Given the description of an element on the screen output the (x, y) to click on. 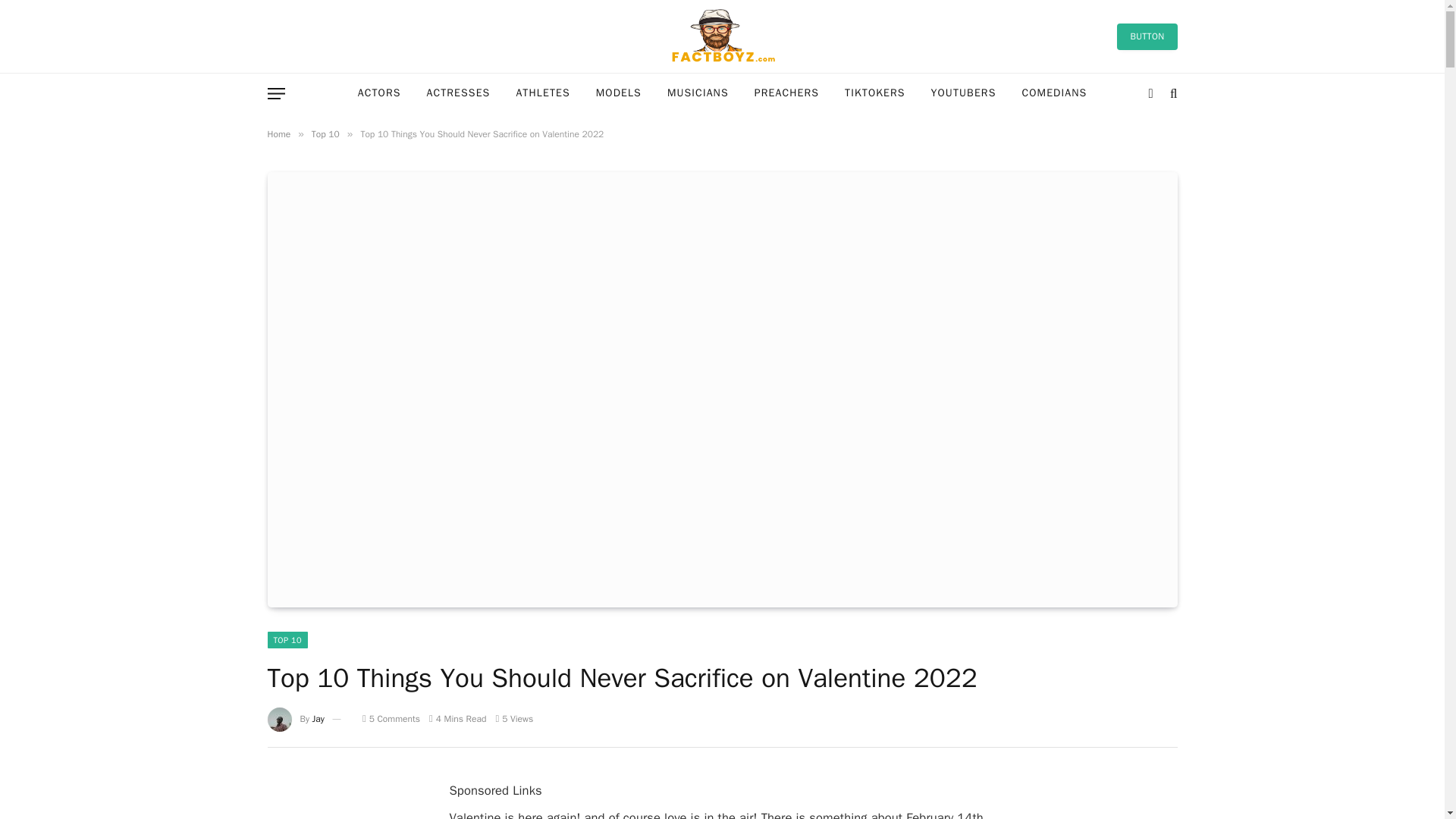
Posts by Jay (318, 718)
TOP 10 (286, 639)
ACTORS (379, 93)
Factboyz.com (722, 36)
5 Article Views (513, 718)
BUTTON (1146, 35)
COMEDIANS (1054, 93)
ACTRESSES (457, 93)
MUSICIANS (697, 93)
5 Comments (391, 718)
